Given the description of an element on the screen output the (x, y) to click on. 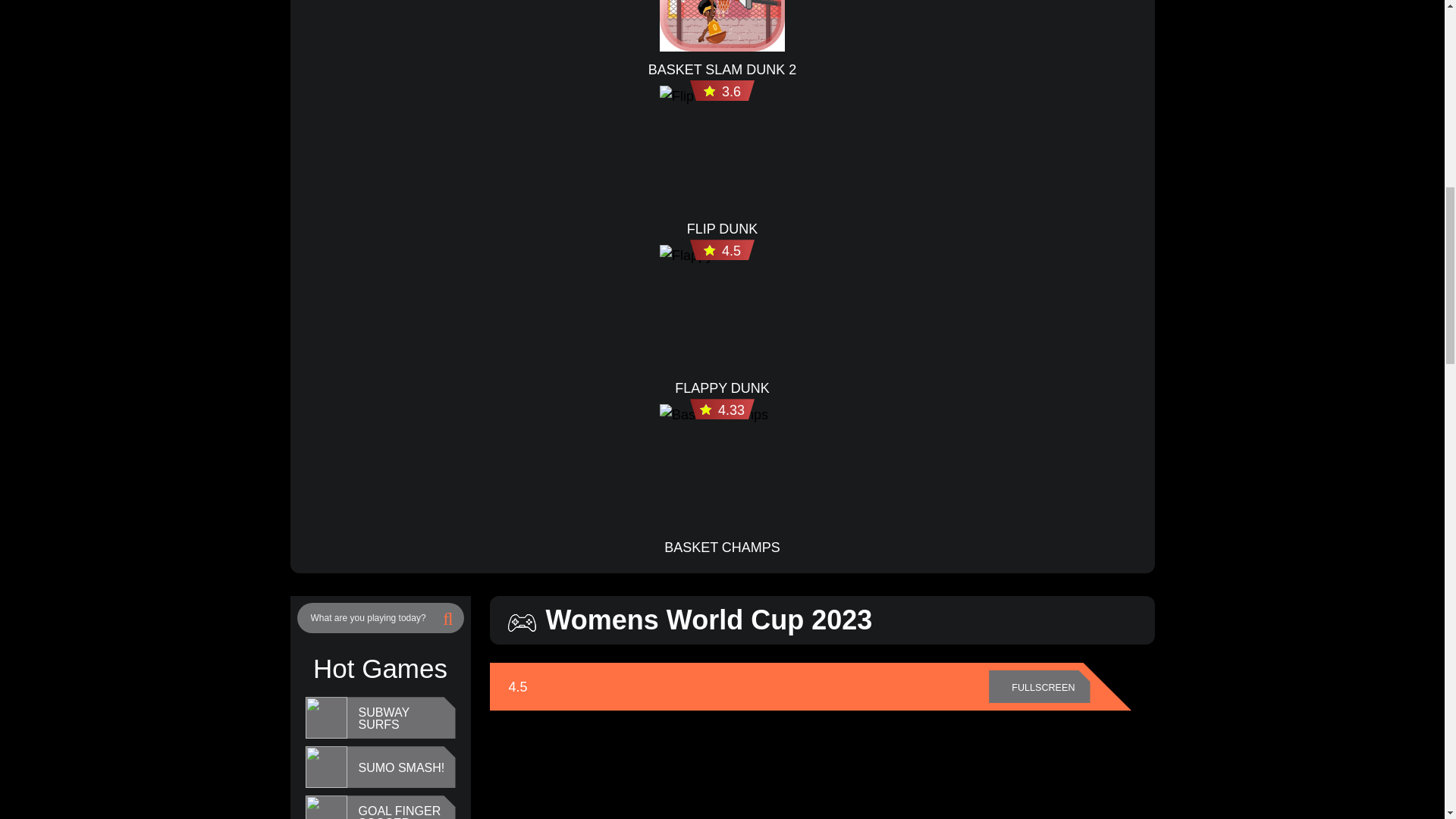
FULLSCREEN (1038, 686)
SUBWAY SURFS (402, 718)
FLAPPY DUNK (722, 387)
SUMO SMASH! (401, 767)
GOAL FINGER SOCCER (402, 812)
Fullscreen (1038, 686)
BASKET SLAM DUNK 2 (721, 69)
FLIP DUNK (722, 228)
BASKET CHAMPS (721, 547)
